Given the description of an element on the screen output the (x, y) to click on. 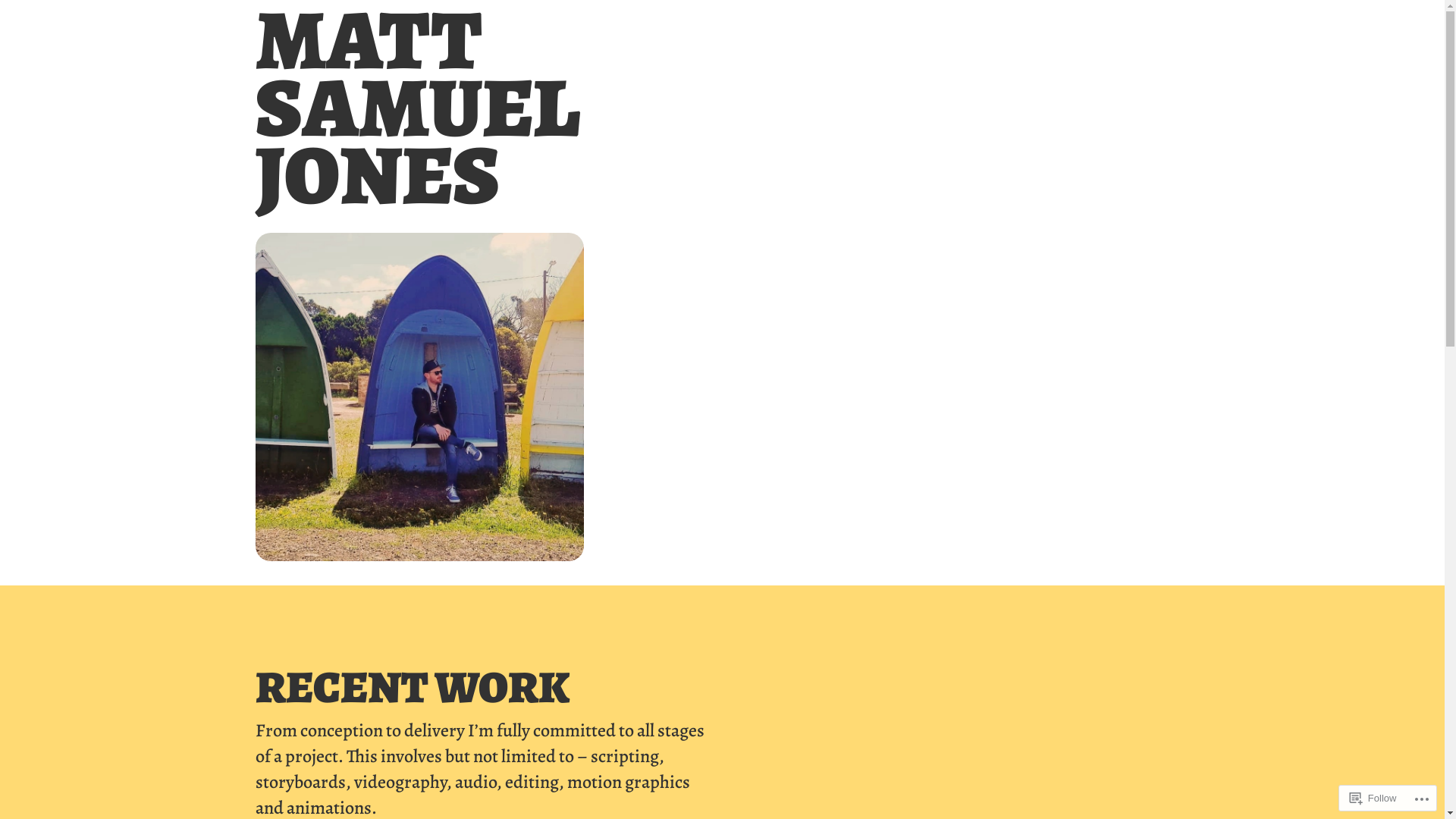
Follow Element type: text (1372, 797)
